Given the description of an element on the screen output the (x, y) to click on. 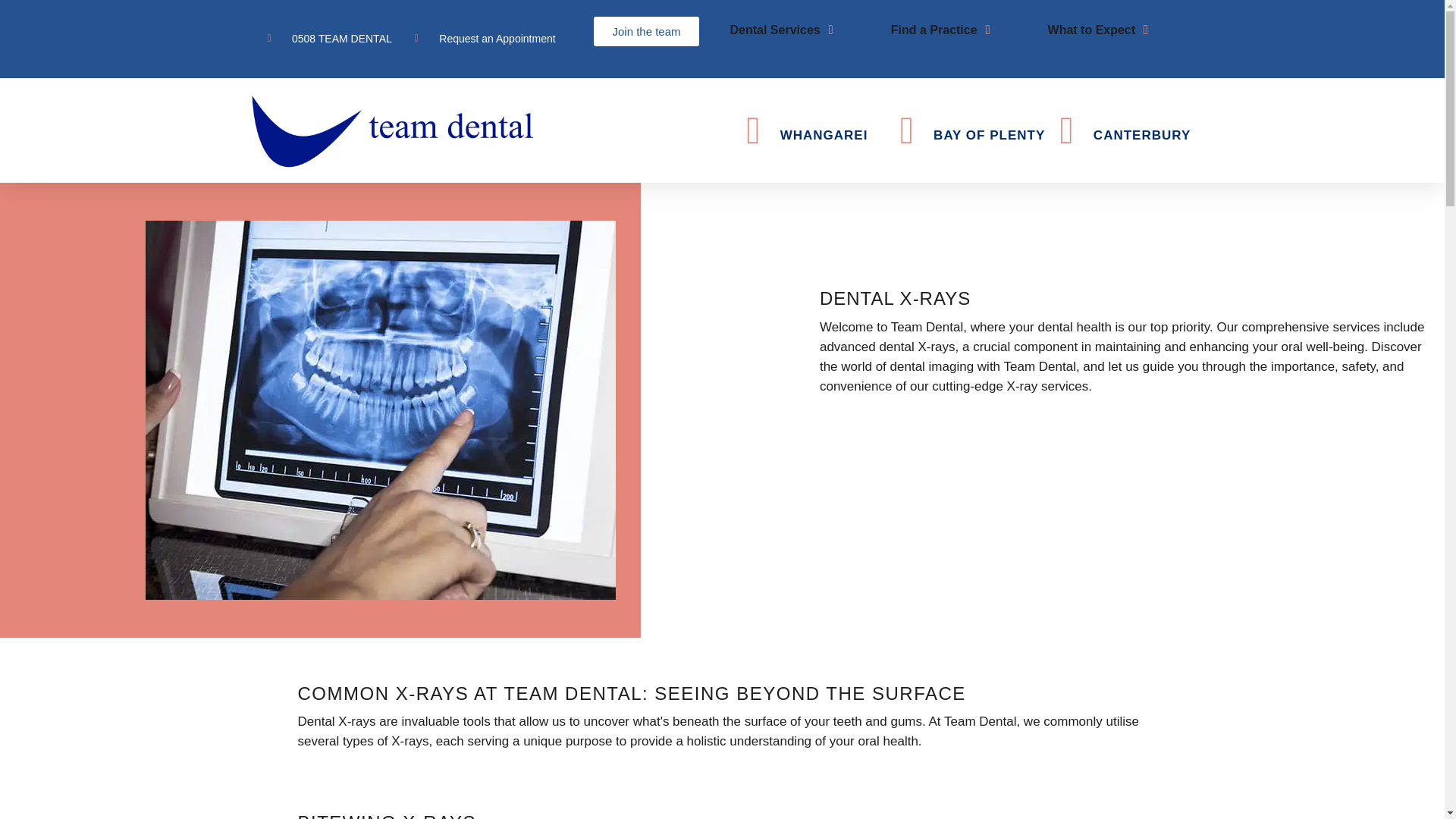
Join the team (646, 30)
0508 TEAM DENTAL (328, 38)
Dental Services (775, 30)
Request an Appointment (485, 38)
Find a Practice (933, 30)
What to Expect (1091, 30)
